Given the description of an element on the screen output the (x, y) to click on. 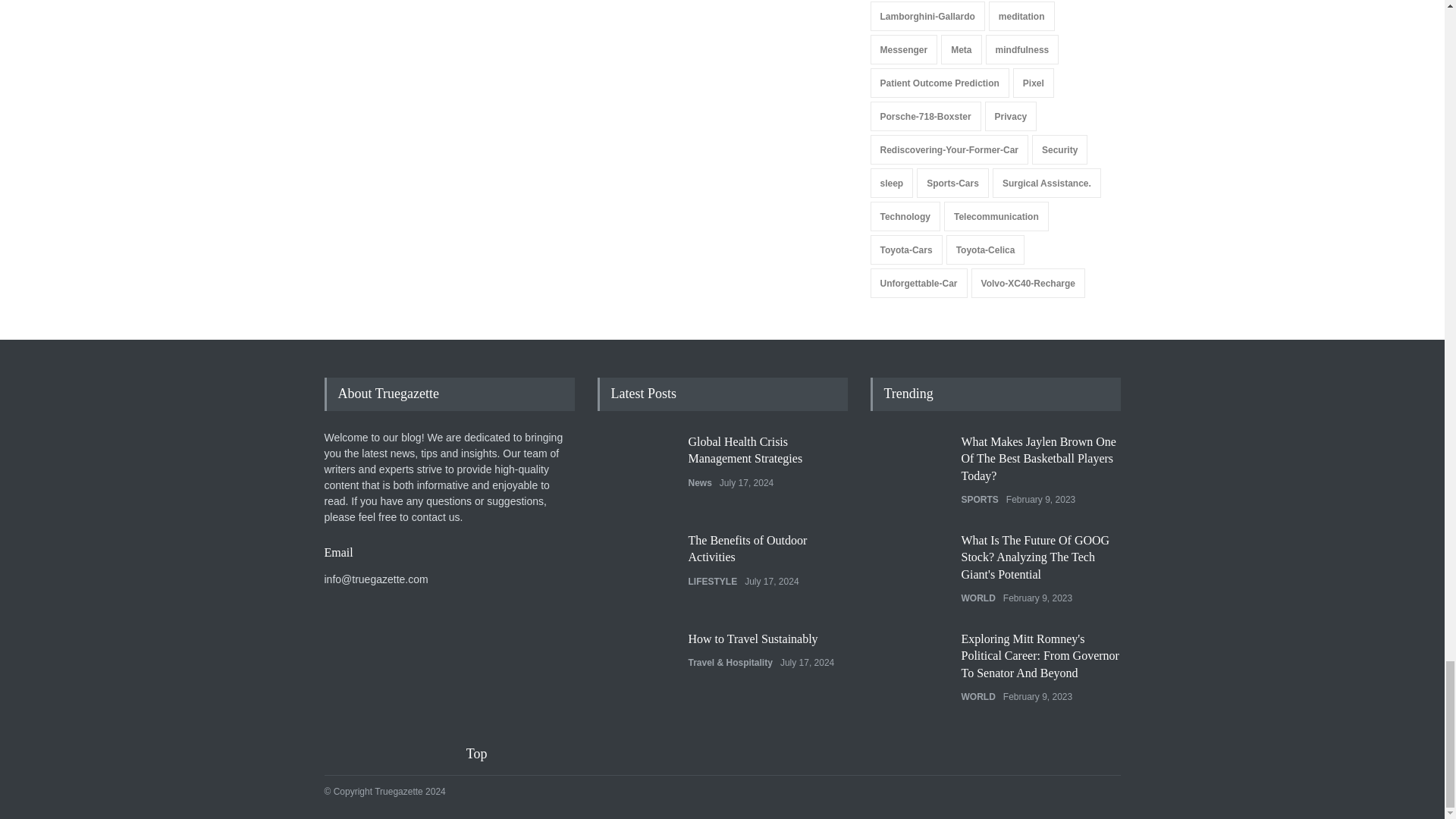
Top (485, 753)
